Given the description of an element on the screen output the (x, y) to click on. 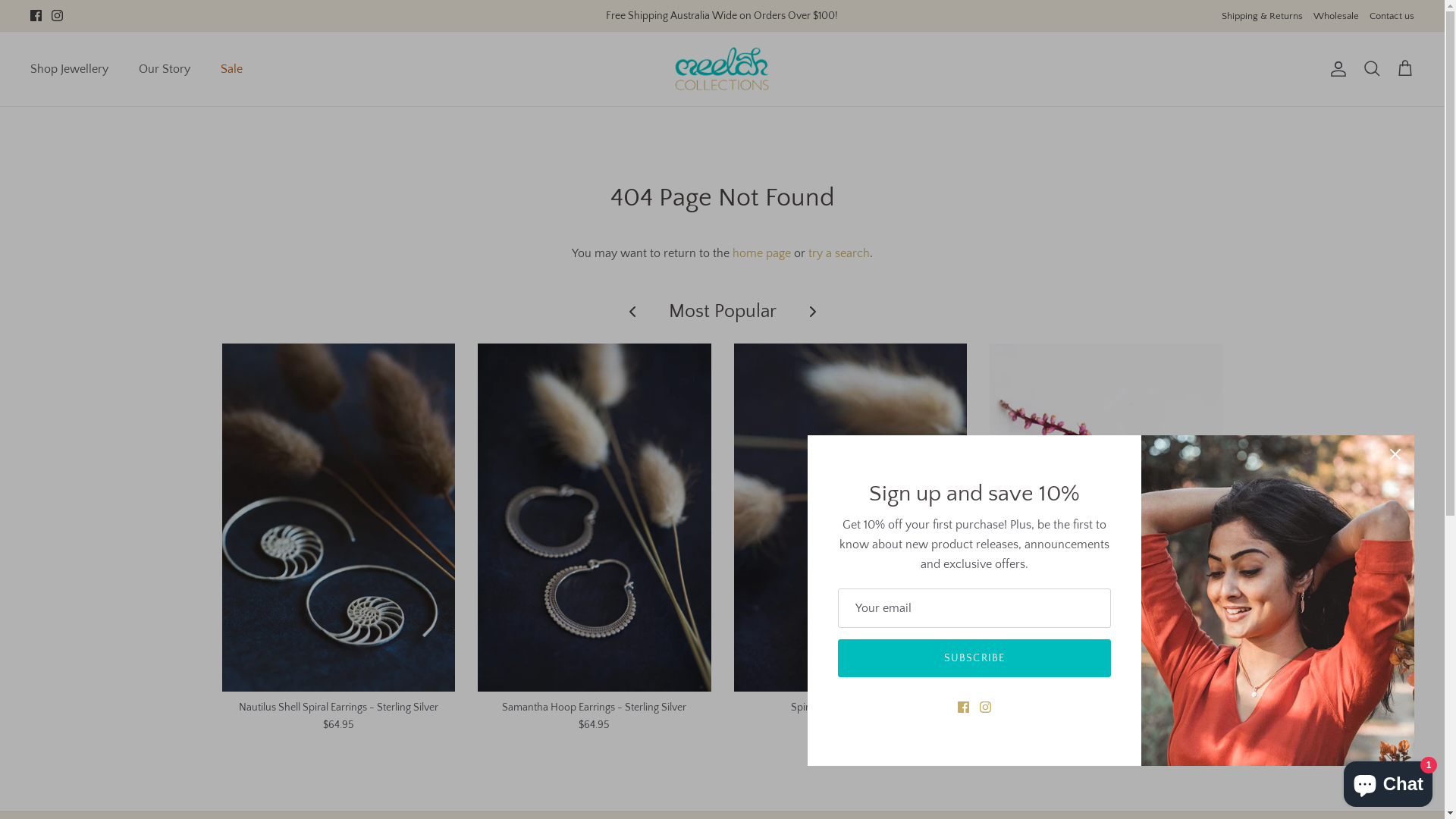
Meelah Collections Element type: hover (721, 69)
Instagram Element type: text (56, 15)
Carly Moonstone Earrings - Sterling Silver
$69.95 Element type: text (1106, 716)
home page Element type: text (761, 253)
Our Story Element type: text (164, 68)
Shopify online store chat Element type: hover (1388, 780)
Sale Element type: text (231, 68)
Most Popular Element type: text (722, 310)
Shipping & Returns Element type: text (1261, 16)
Contact us Element type: text (1391, 16)
Search Element type: text (1371, 68)
Samantha Hoop Earrings - Sterling Silver
$64.95 Element type: text (594, 716)
Facebook Element type: text (35, 15)
try a search Element type: text (838, 253)
Nautilus Shell Spiral Earrings - Sterling Silver
$64.95 Element type: text (338, 716)
Wholesale Element type: text (1335, 16)
Cart Element type: text (1405, 68)
Shop Jewellery Element type: text (69, 68)
Account Element type: text (1335, 68)
Spiral Ring - Sterling Silver
$89.95 Element type: text (850, 716)
SUBSCRIBE Element type: text (973, 658)
